Given the description of an element on the screen output the (x, y) to click on. 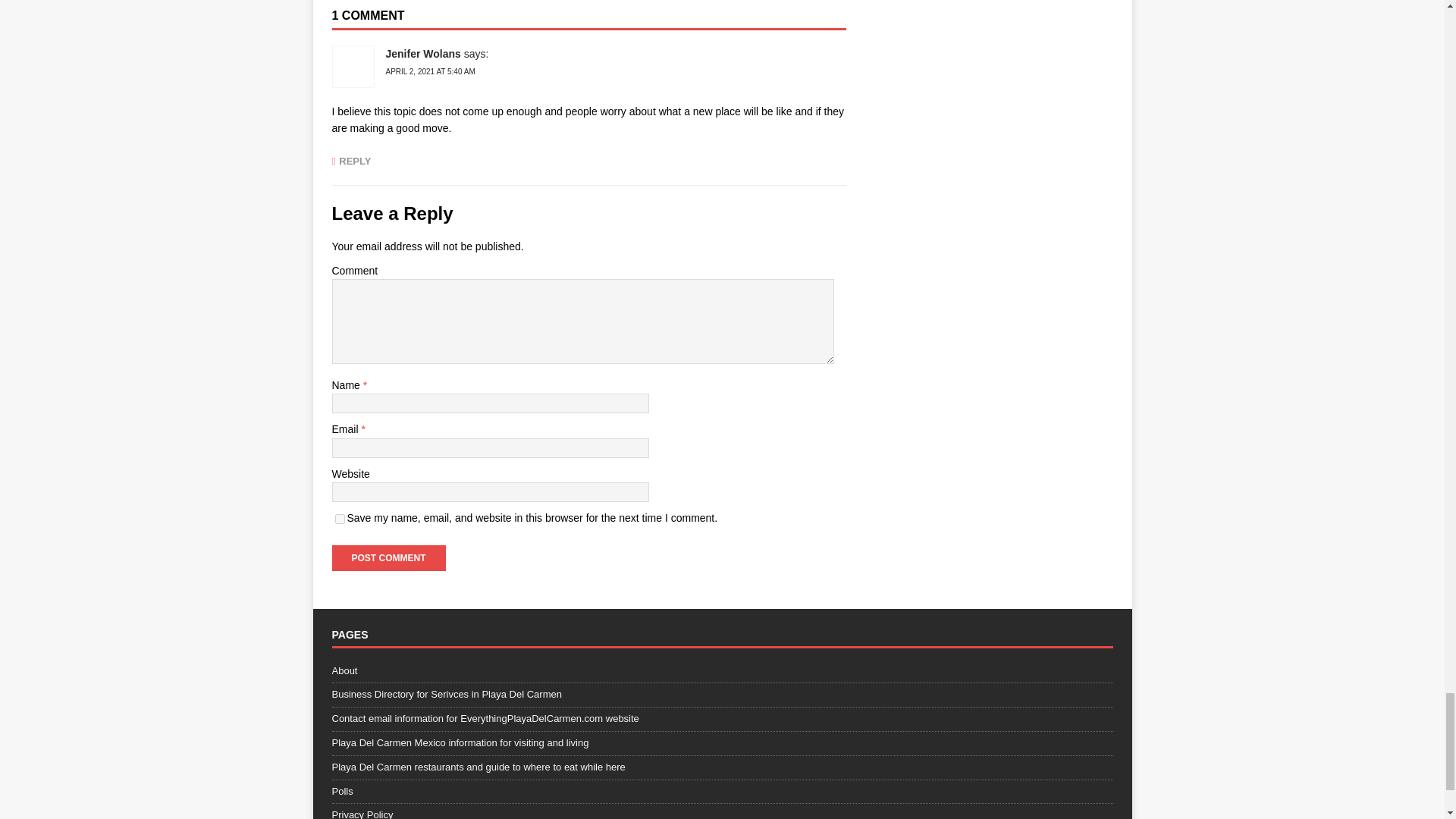
Post Comment (388, 557)
yes (339, 519)
